Given the description of an element on the screen output the (x, y) to click on. 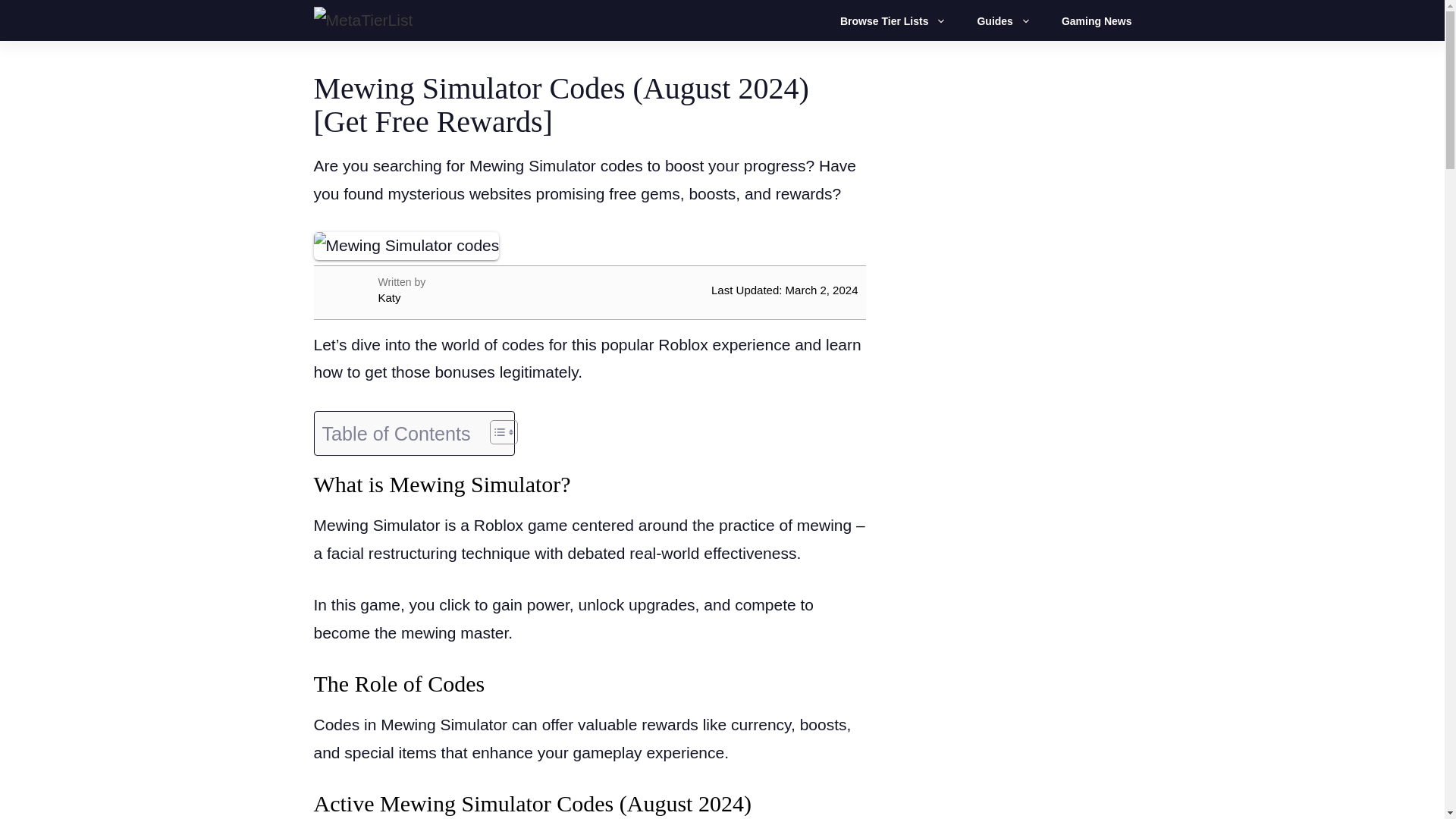
Katy (487, 297)
View all posts by Katy (487, 297)
Guides (1010, 20)
Gaming News (1096, 20)
Browse Tier Lists (900, 20)
